Given the description of an element on the screen output the (x, y) to click on. 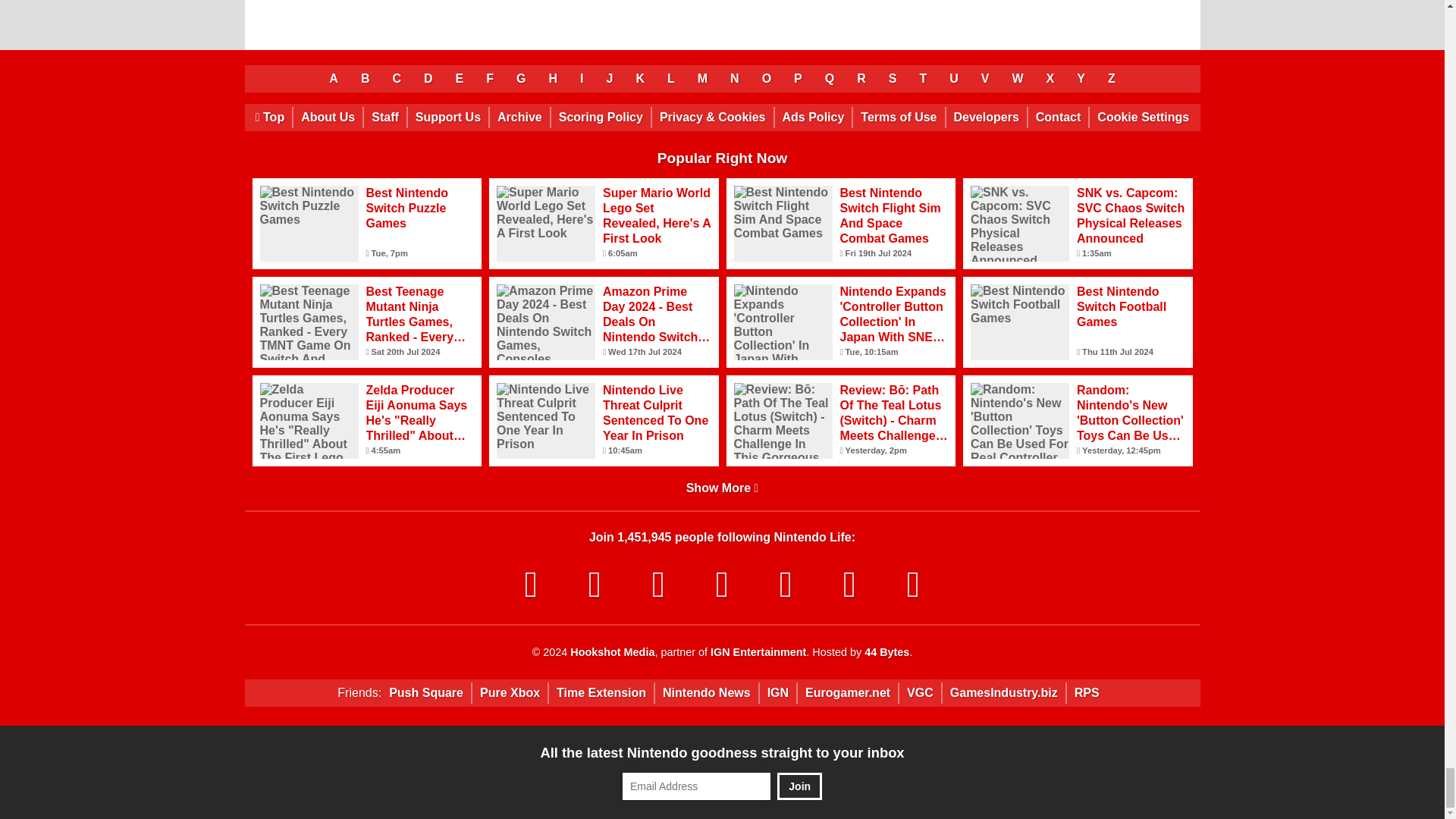
Join (799, 786)
